Given the description of an element on the screen output the (x, y) to click on. 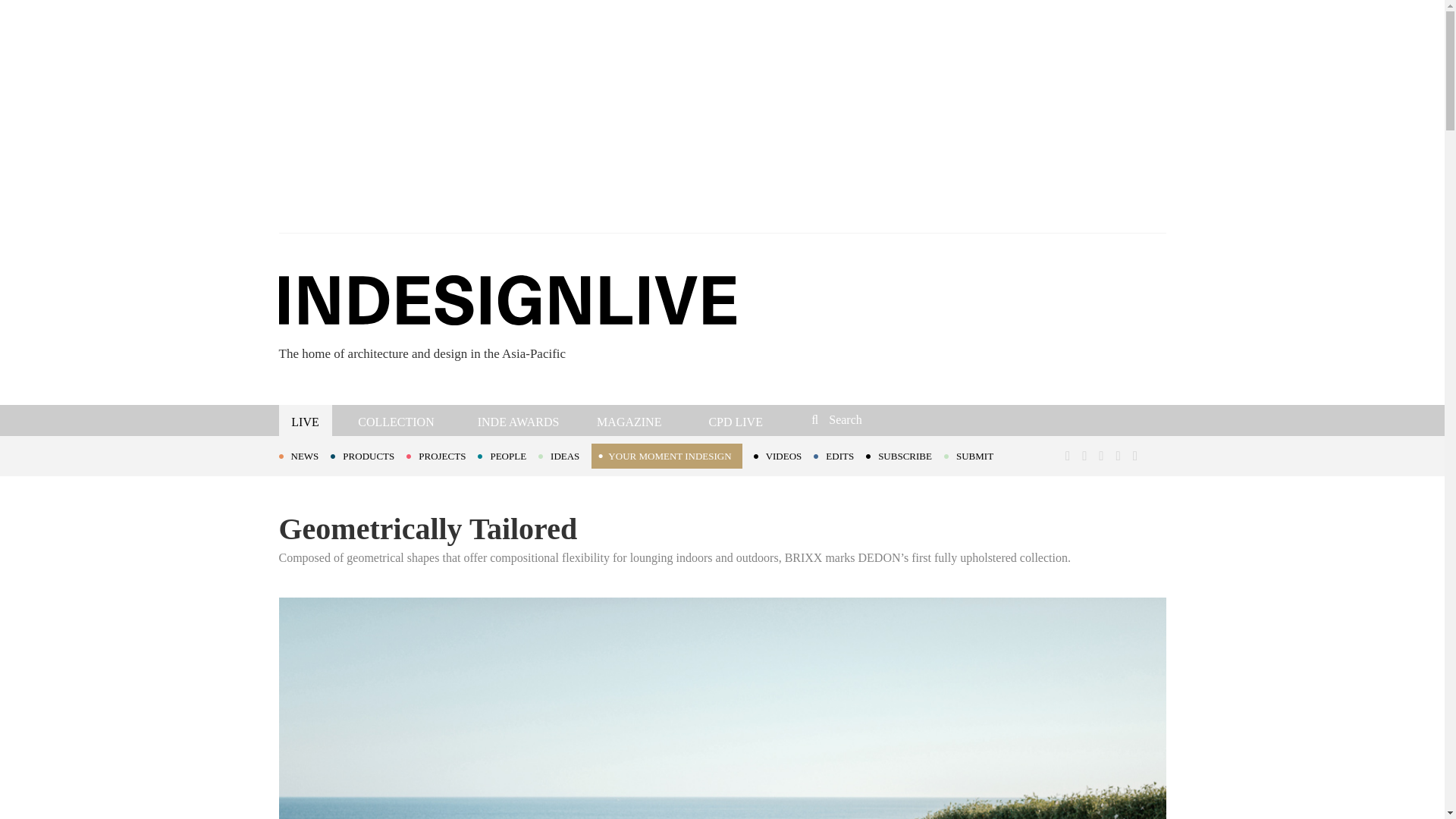
PROJECTS (441, 455)
EDITS (839, 455)
SUBSCRIBE (904, 455)
PRODUCTS (368, 455)
IDEAS (564, 455)
Search (913, 418)
PEOPLE (507, 455)
VIDEOS (783, 455)
YOUR MOMENT INDESIGN (666, 455)
